Given the description of an element on the screen output the (x, y) to click on. 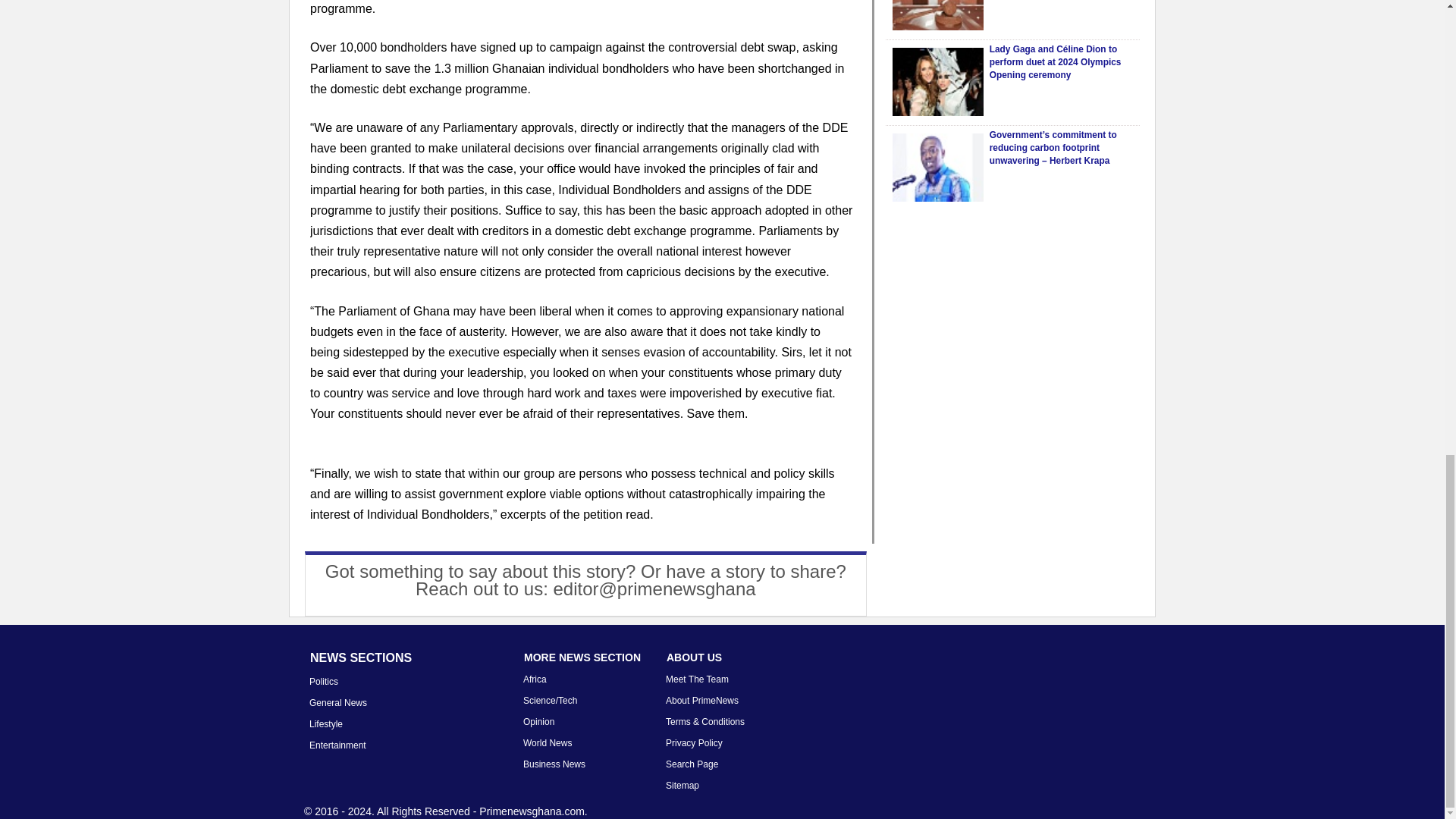
Politics (322, 681)
General News (337, 702)
